Given the description of an element on the screen output the (x, y) to click on. 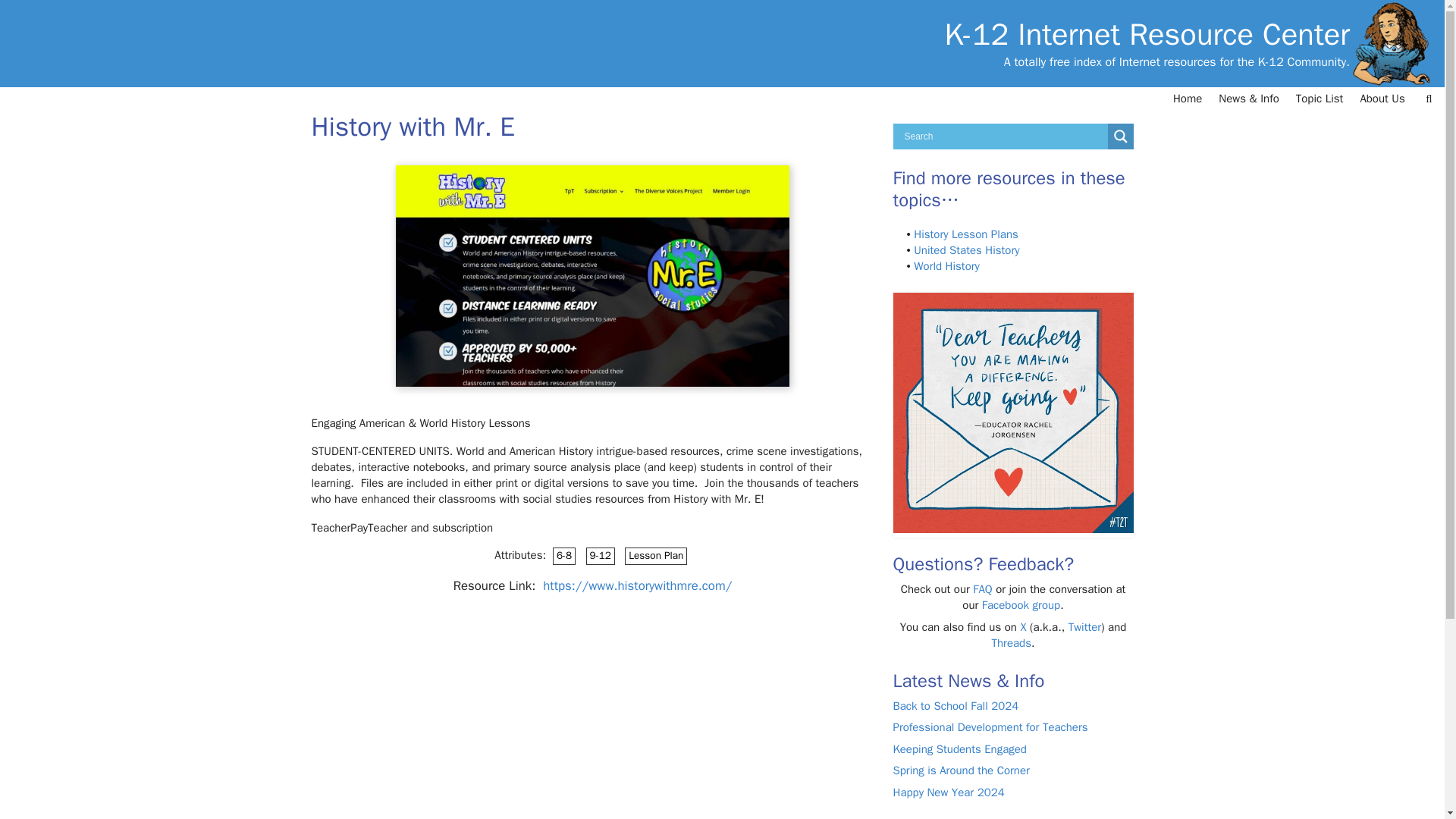
Facebook group (1020, 604)
United States History (966, 250)
6-8 (564, 556)
Lesson Plan (655, 556)
Keeping Students Engaged (959, 748)
Twitter (1084, 626)
World History (946, 265)
Threads (1010, 643)
Professional Development for Teachers (990, 726)
About Us (1381, 98)
